Given the description of an element on the screen output the (x, y) to click on. 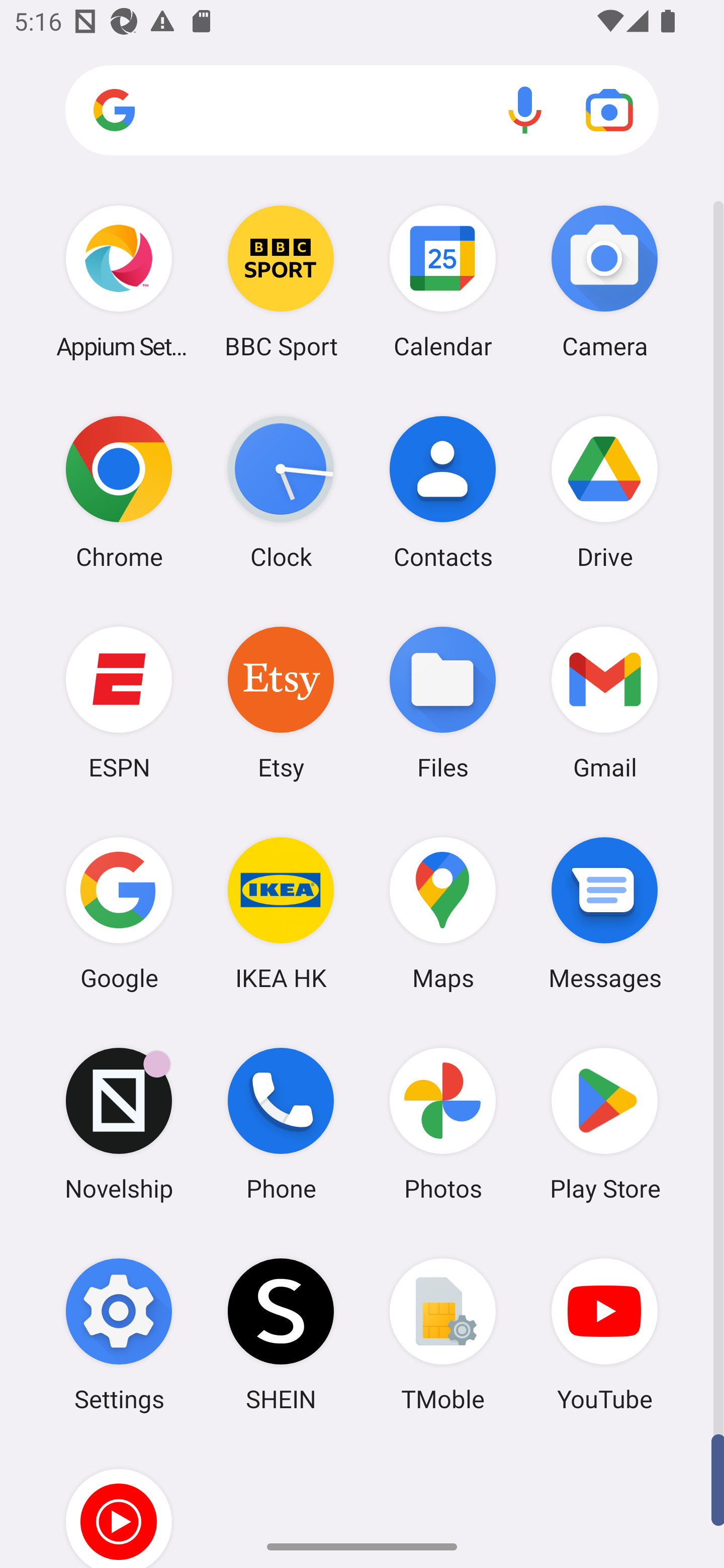
Search apps, web and more (361, 110)
Voice search (524, 109)
Google Lens (608, 109)
Appium Settings (118, 281)
BBC Sport (280, 281)
Calendar (443, 281)
Camera (604, 281)
Chrome (118, 492)
Clock (280, 492)
Contacts (443, 492)
Drive (604, 492)
ESPN (118, 702)
Etsy (280, 702)
Files (443, 702)
Gmail (604, 702)
Google (118, 913)
IKEA HK (280, 913)
Maps (443, 913)
Messages (604, 913)
Novelship Novelship has 1 notification (118, 1124)
Phone (280, 1124)
Photos (443, 1124)
Play Store (604, 1124)
Settings (118, 1334)
SHEIN (280, 1334)
TMoble (443, 1334)
YouTube (604, 1334)
YT Music (118, 1503)
